Given the description of an element on the screen output the (x, y) to click on. 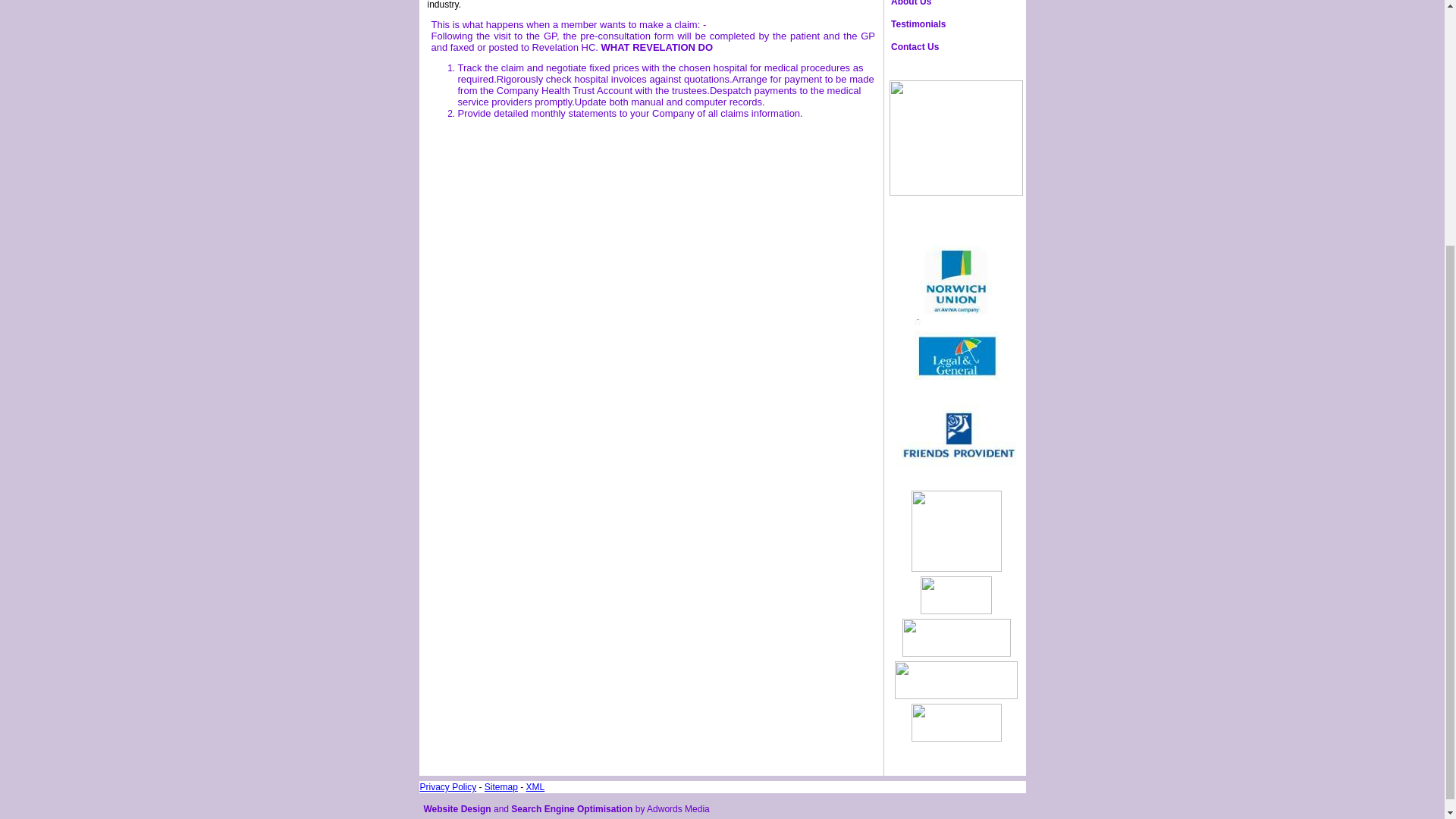
Website Design (456, 808)
Privacy Policy (448, 787)
About Us (951, 5)
Search Engine Optimisation (571, 808)
Testimonials (951, 24)
Contact Us (951, 46)
XML (534, 787)
Sitemap (501, 787)
